Given the description of an element on the screen output the (x, y) to click on. 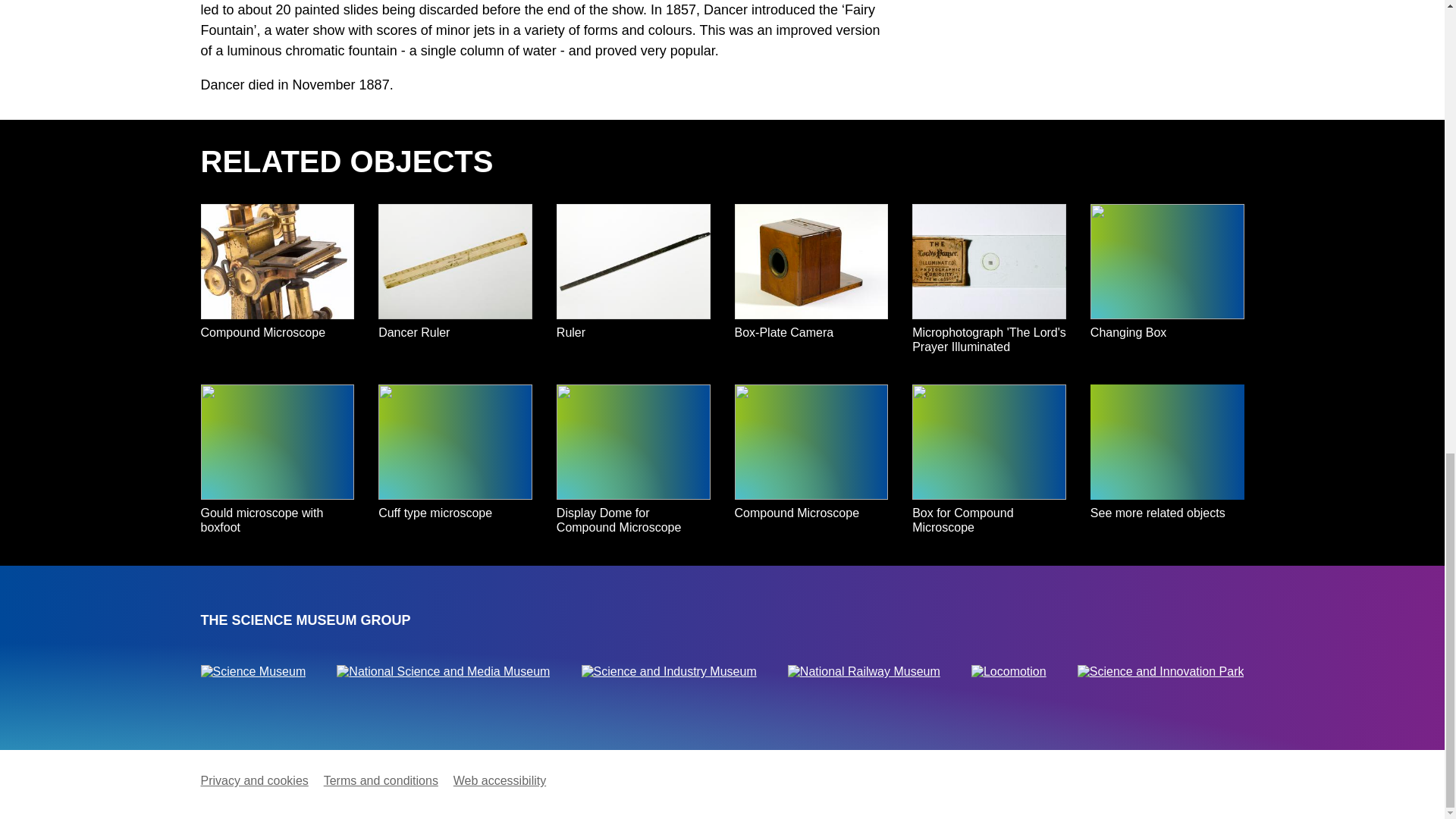
Changing Box (1167, 281)
Dancer Ruler (455, 281)
Microphotograph 'The Lord's Prayer Illuminated (988, 281)
Ruler (633, 281)
Box-Plate Camera (810, 281)
Compound Microscope (276, 281)
